Given the description of an element on the screen output the (x, y) to click on. 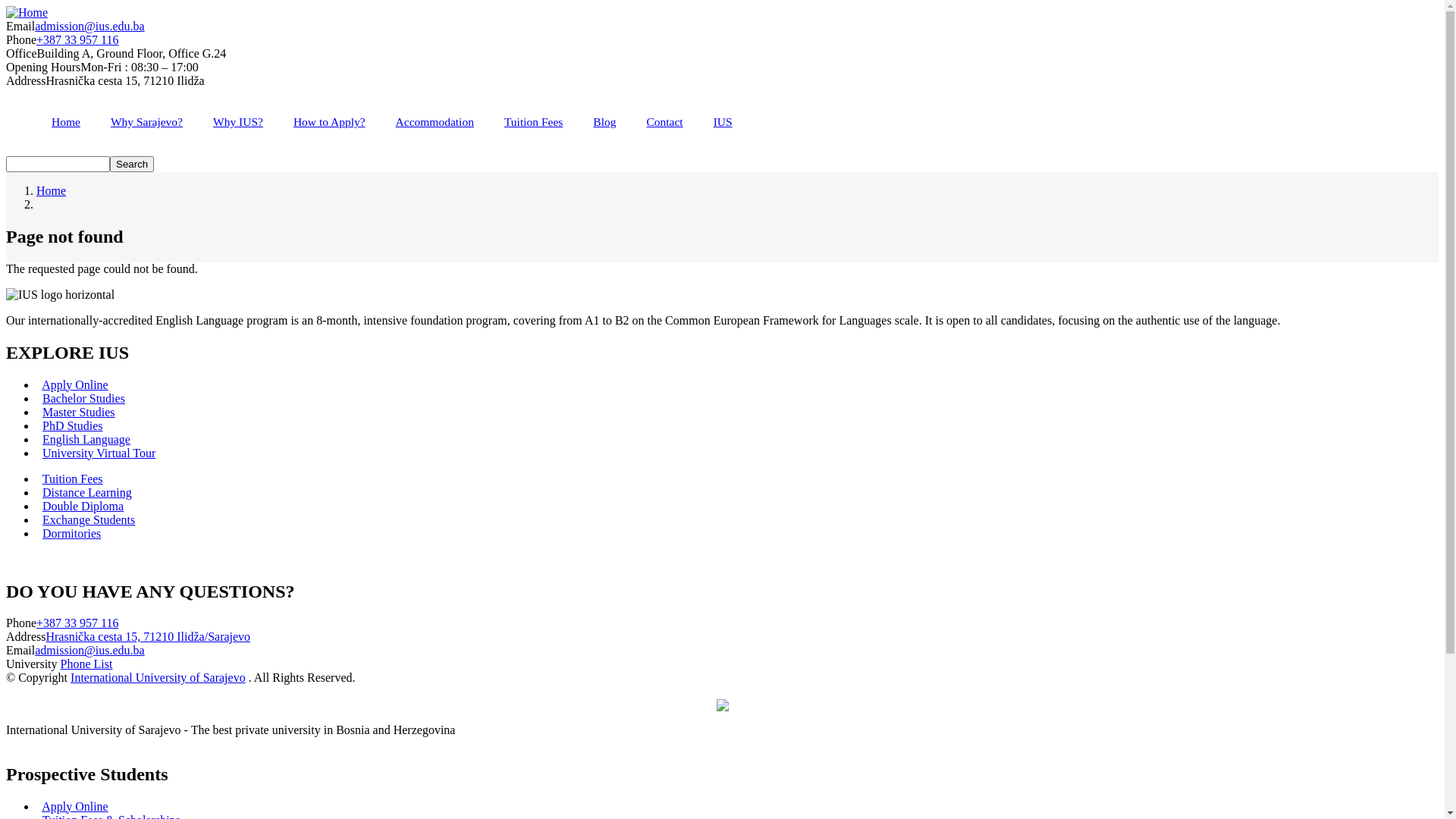
Why IUS? Element type: text (238, 121)
Skip to main content Element type: text (6, 6)
Tuition Fees Element type: text (533, 121)
How to Apply? Element type: text (329, 121)
International University of Sarajevo Element type: text (157, 677)
Master Studies Element type: text (78, 411)
PhD Studies Element type: text (72, 425)
+387 33 957 116 Element type: text (77, 622)
Phone List Element type: text (86, 663)
Home Element type: hover (26, 12)
Distance Learning Element type: text (86, 492)
Apply Online Element type: text (74, 806)
Blog Element type: text (604, 121)
Home Element type: text (50, 190)
Search Element type: text (131, 164)
Contact Element type: text (664, 121)
Bachelor Studies Element type: text (83, 398)
Enter the terms you wish to search for. Element type: hover (57, 164)
Why Sarajevo? Element type: text (146, 121)
admission@ius.edu.ba Element type: text (89, 25)
Accommodation Element type: text (434, 121)
admission@ius.edu.ba Element type: text (89, 649)
Home Element type: text (65, 121)
IUS Element type: text (722, 121)
Tuition Fees Element type: text (72, 478)
Apply Online Element type: text (74, 384)
Exchange Students Element type: text (88, 519)
English Language Element type: text (86, 439)
Double Diploma Element type: text (82, 505)
University Virtual Tour Element type: text (98, 452)
+387 33 957 116 Element type: text (77, 39)
Dormitories Element type: text (71, 533)
